Given the description of an element on the screen output the (x, y) to click on. 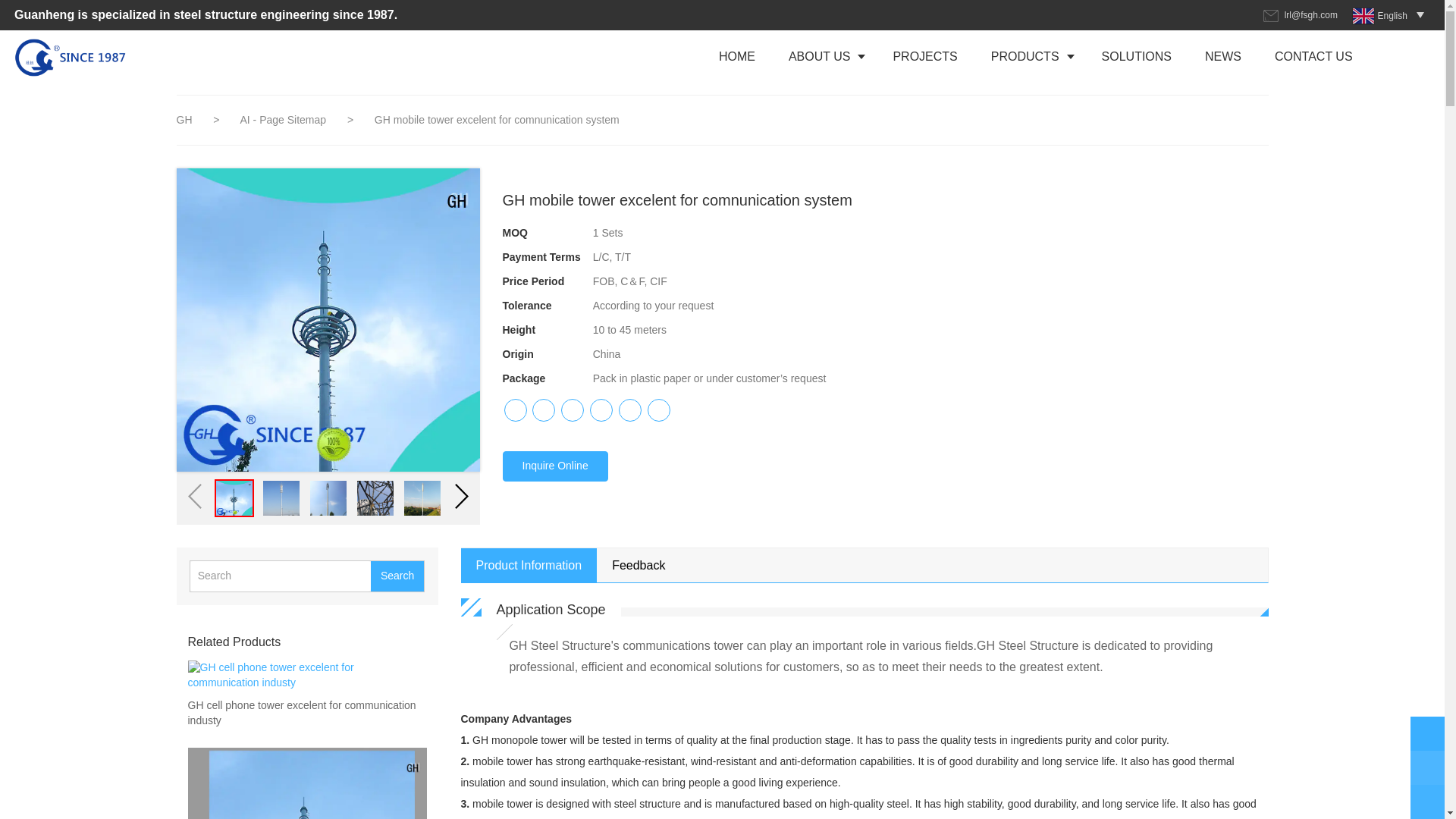
GH (184, 119)
GH cell phone tower excelent for communication industy (306, 713)
SOLUTIONS (1136, 56)
Search (397, 576)
PROJECTS (925, 56)
Inquire Online (554, 466)
HOME (736, 56)
CONTACT US (1313, 56)
GH cell phone tower excelent for communication industy (306, 713)
NEWS (1222, 56)
